Given the description of an element on the screen output the (x, y) to click on. 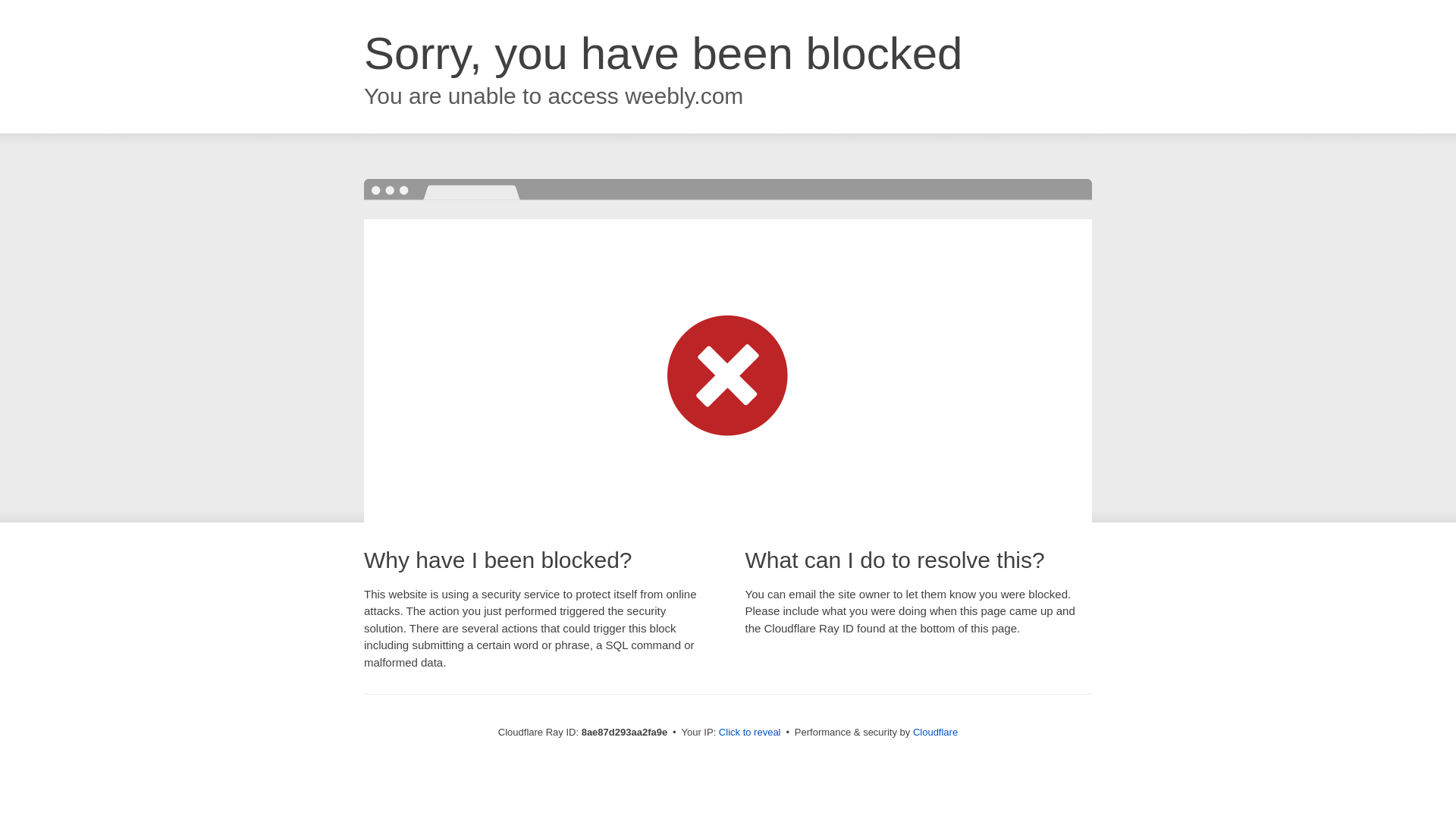
Cloudflare (935, 731)
Click to reveal (749, 732)
